Given the description of an element on the screen output the (x, y) to click on. 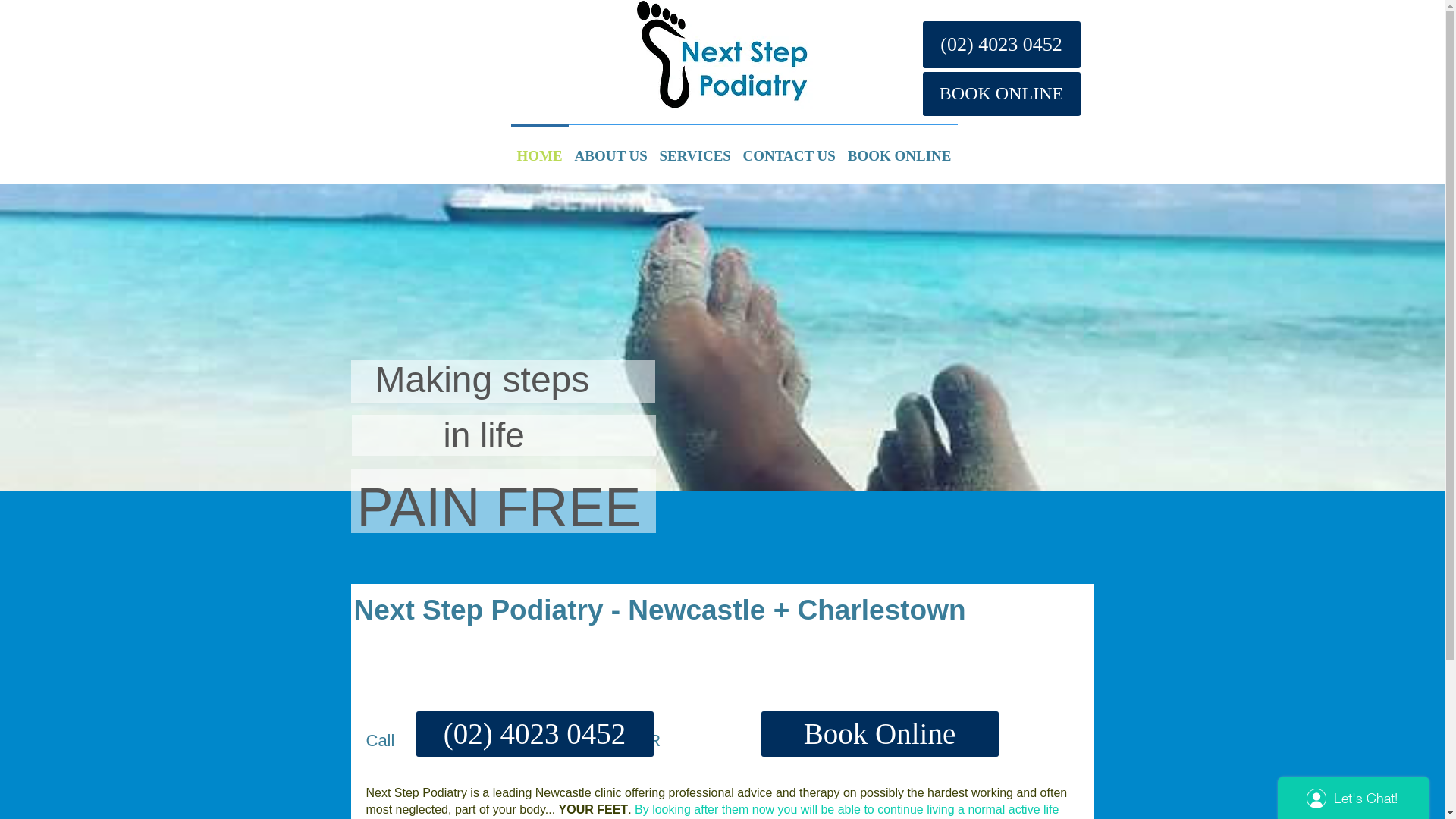
Embedded Content Element type: hover (663, 69)
ABOUT US Element type: text (610, 148)
SERVICES Element type: text (695, 148)
TWIPLA (Visitor Analytics) Element type: hover (324, 287)
Next Step Podiatry- Newcastle Podiatry Element type: hover (721, 59)
(02) 4023 0452 Element type: text (1000, 44)
HOME Element type: text (539, 148)
CONTACT US Element type: text (789, 148)
BOOK ONLINE Element type: text (899, 148)
BOOK ONLINE Element type: text (1000, 94)
Book Online Element type: text (879, 733)
